Given the description of an element on the screen output the (x, y) to click on. 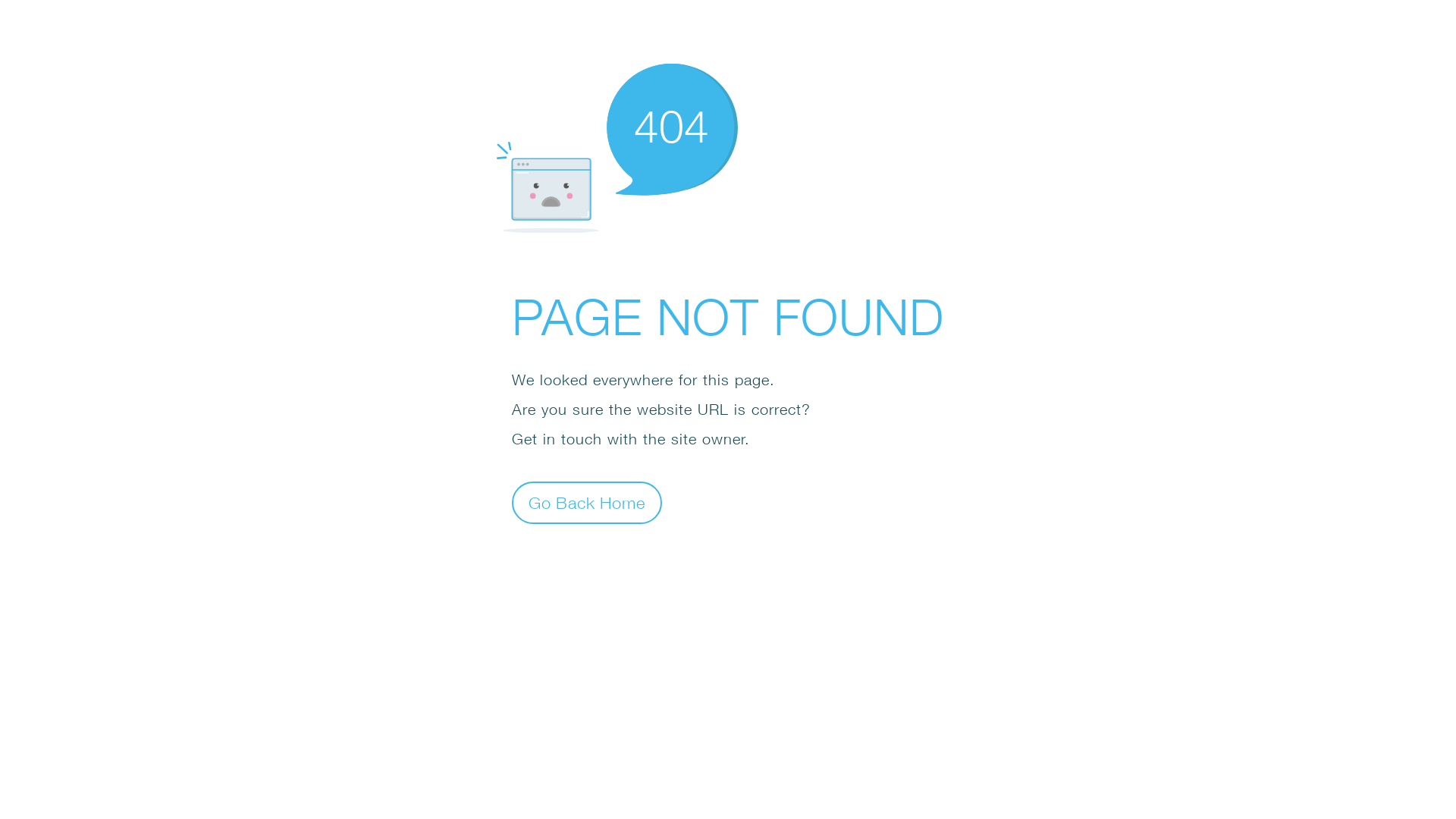
Go Back Home Element type: text (586, 502)
